Given the description of an element on the screen output the (x, y) to click on. 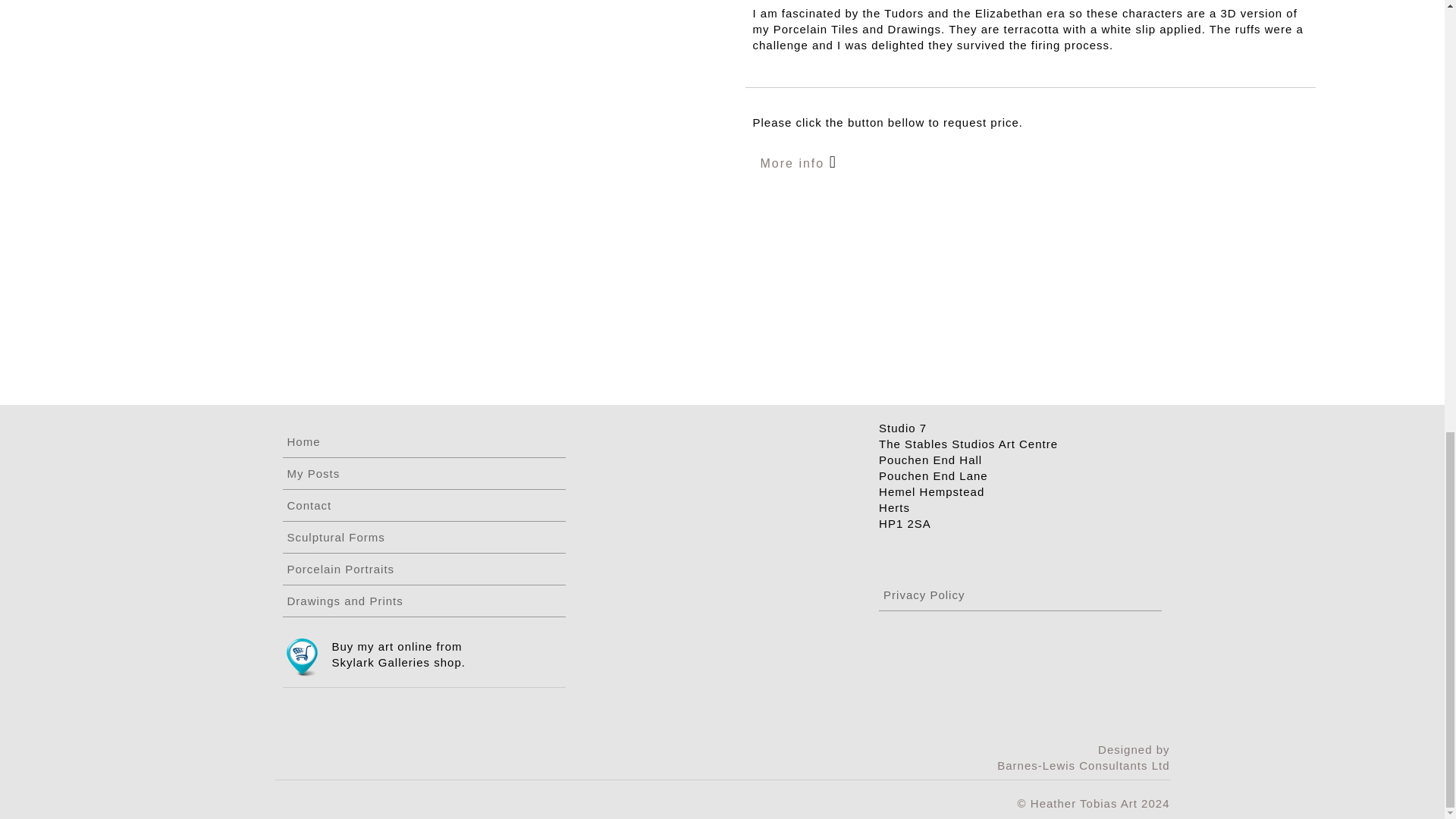
Home (423, 441)
Barnes-Lewis Consultants Ltd (1083, 765)
Privacy Policy (1020, 594)
Contact (423, 505)
Drawings and Prints (423, 600)
Porcelain Portraits (423, 568)
More info (794, 163)
Sculptural Forms (423, 536)
More info (798, 160)
My Posts (423, 473)
